Given the description of an element on the screen output the (x, y) to click on. 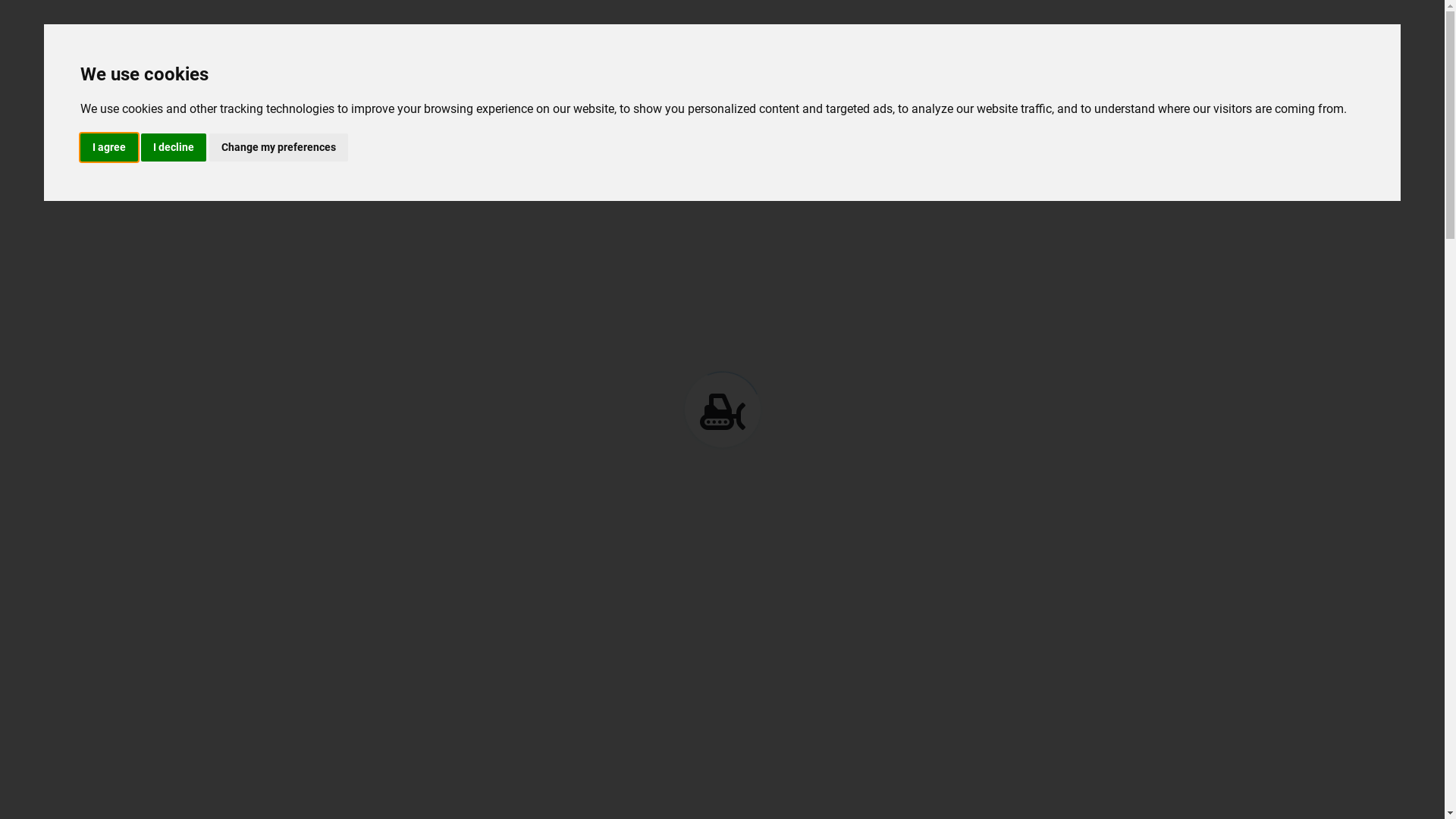
Services Element type: text (982, 70)
MOUNTAIN RAISE >  Element type: text (348, 530)
About Element type: text (911, 70)
Search Results Element type: text (333, 570)
Gallery Element type: text (1058, 70)
Home Element type: text (297, 323)
I decline Element type: text (173, 147)
Stock Element type: text (848, 70)
Print
(Opens in a new tab) Element type: text (375, 603)
Contact Element type: text (1130, 70)
Go to Top Element type: hover (1401, 787)
Home Element type: text (785, 70)
MR930B Element type: text (312, 548)
WHEEL LOADERS >  Element type: text (348, 512)
Share Element type: text (505, 603)
0412 619 053 Element type: text (347, 15)
admin@drthomas.com.au Element type: text (530, 15)
Stock Element type: text (347, 323)
HOME >  Element type: text (314, 494)
Change my preferences Element type: text (278, 147)
I agree Element type: text (109, 147)
